Given the description of an element on the screen output the (x, y) to click on. 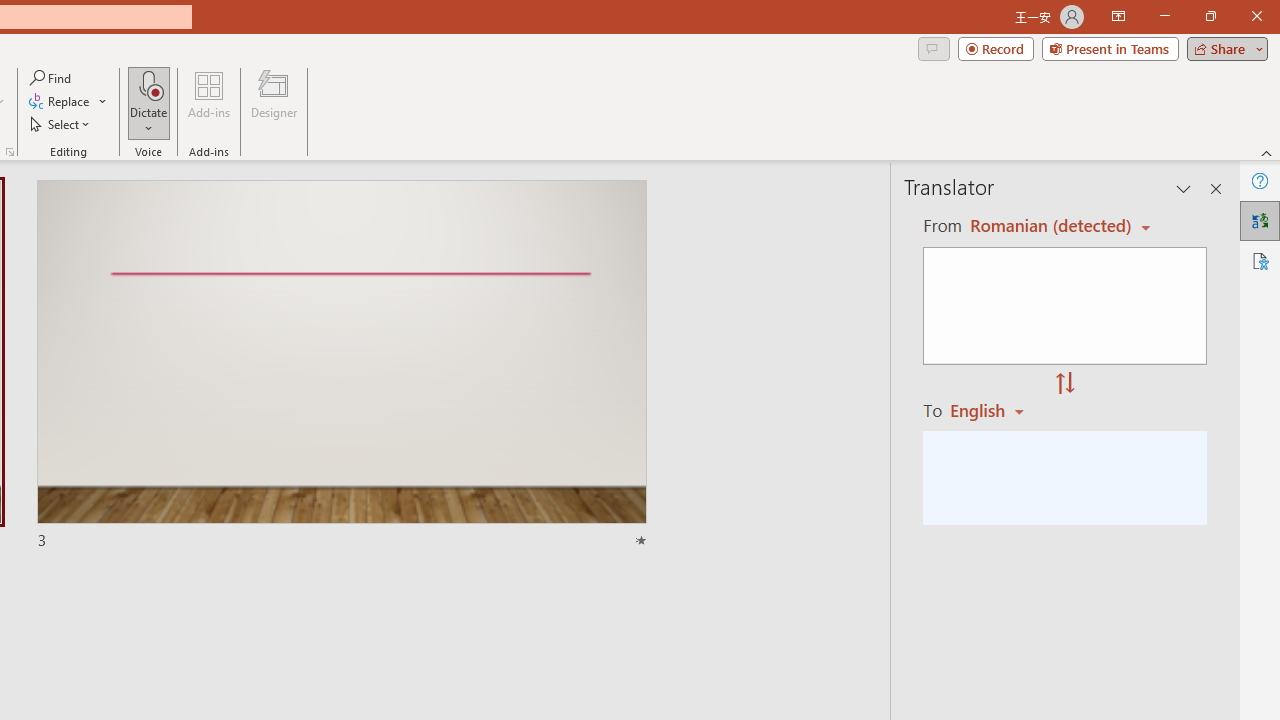
Romanian (994, 409)
Swap "from" and "to" languages. (1065, 383)
Czech (detected) (1047, 225)
